Given the description of an element on the screen output the (x, y) to click on. 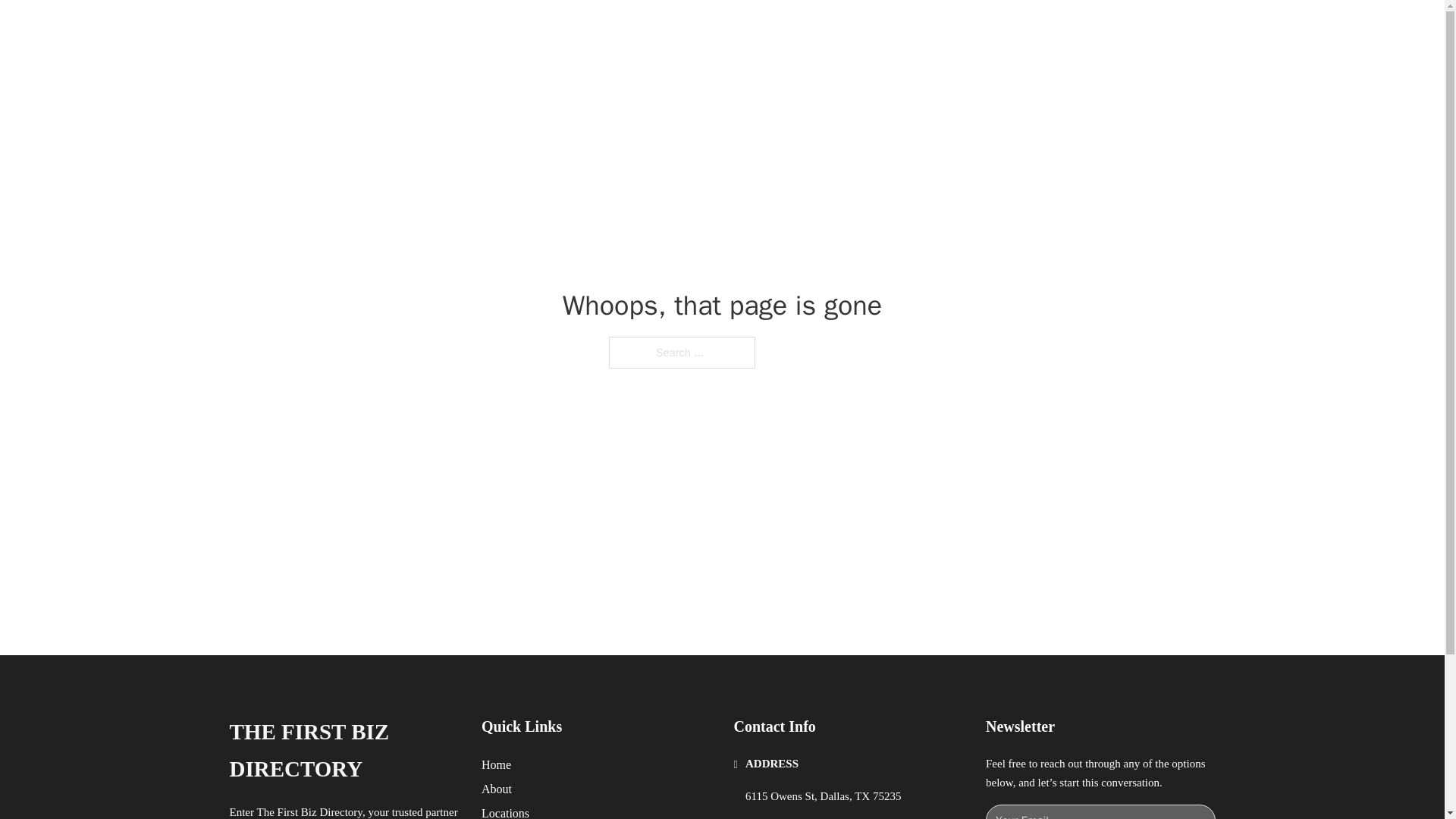
Locations (505, 811)
THE FIRST BIZ DIRECTORY (438, 28)
HOME (919, 29)
Home (496, 764)
About (496, 788)
LOCATIONS (990, 29)
THE FIRST BIZ DIRECTORY (343, 750)
